Given the description of an element on the screen output the (x, y) to click on. 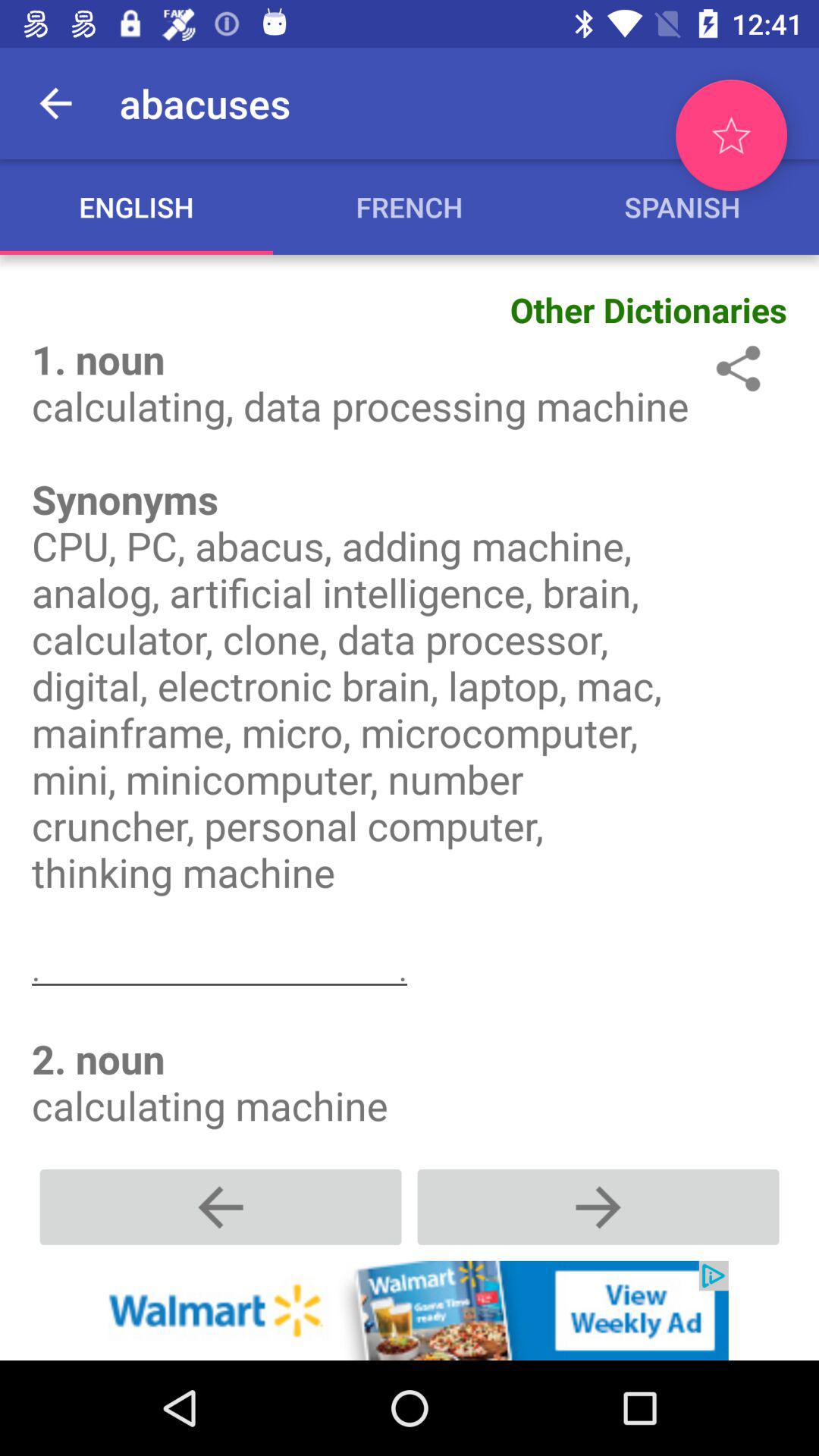
to go next (598, 1206)
